Given the description of an element on the screen output the (x, y) to click on. 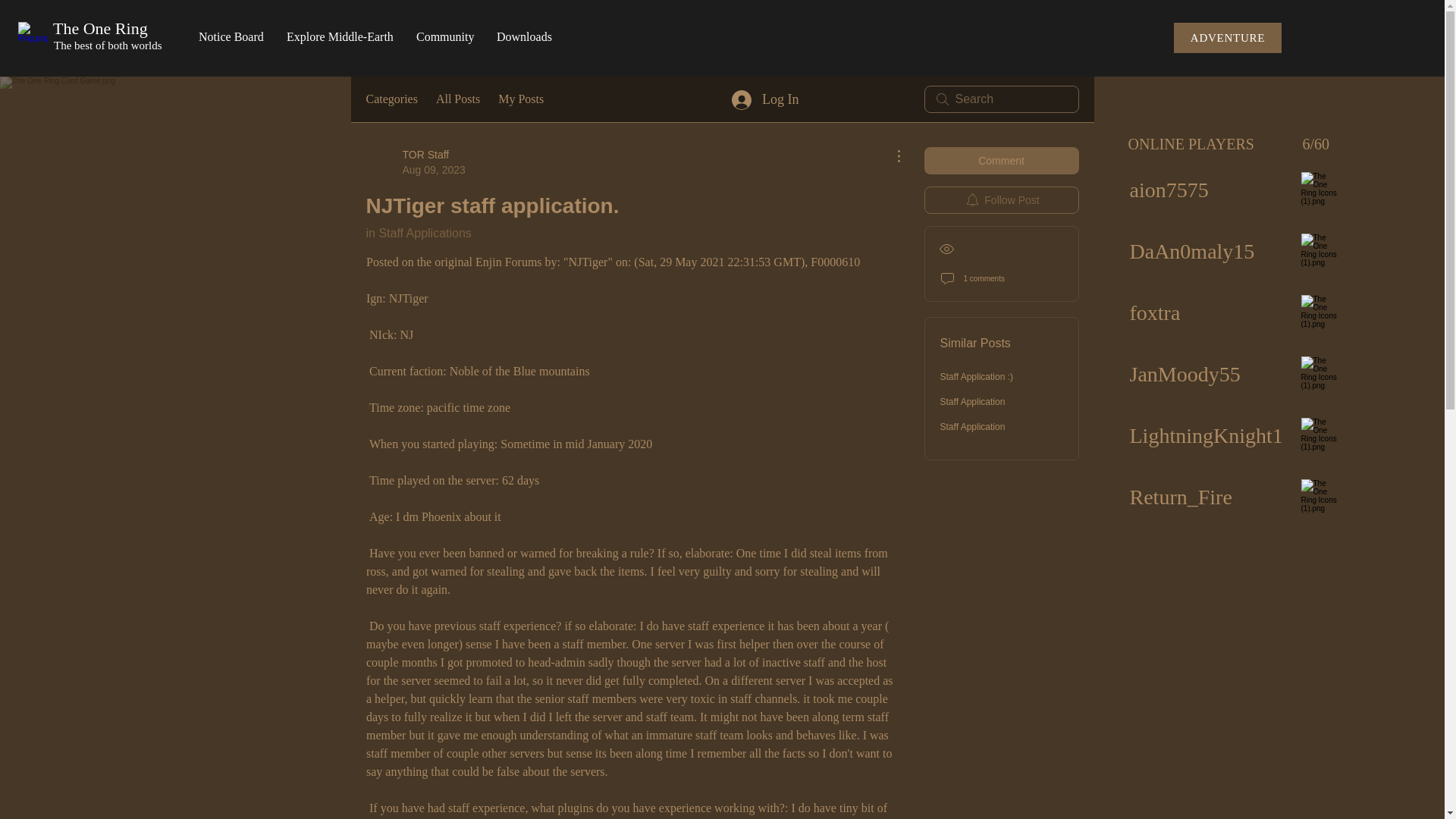
The One Ring (100, 27)
in Staff Applications (417, 232)
My Posts (520, 99)
The best of both worlds (414, 162)
Categories (107, 44)
All Posts (390, 99)
ADVENTURE (457, 99)
